Given the description of an element on the screen output the (x, y) to click on. 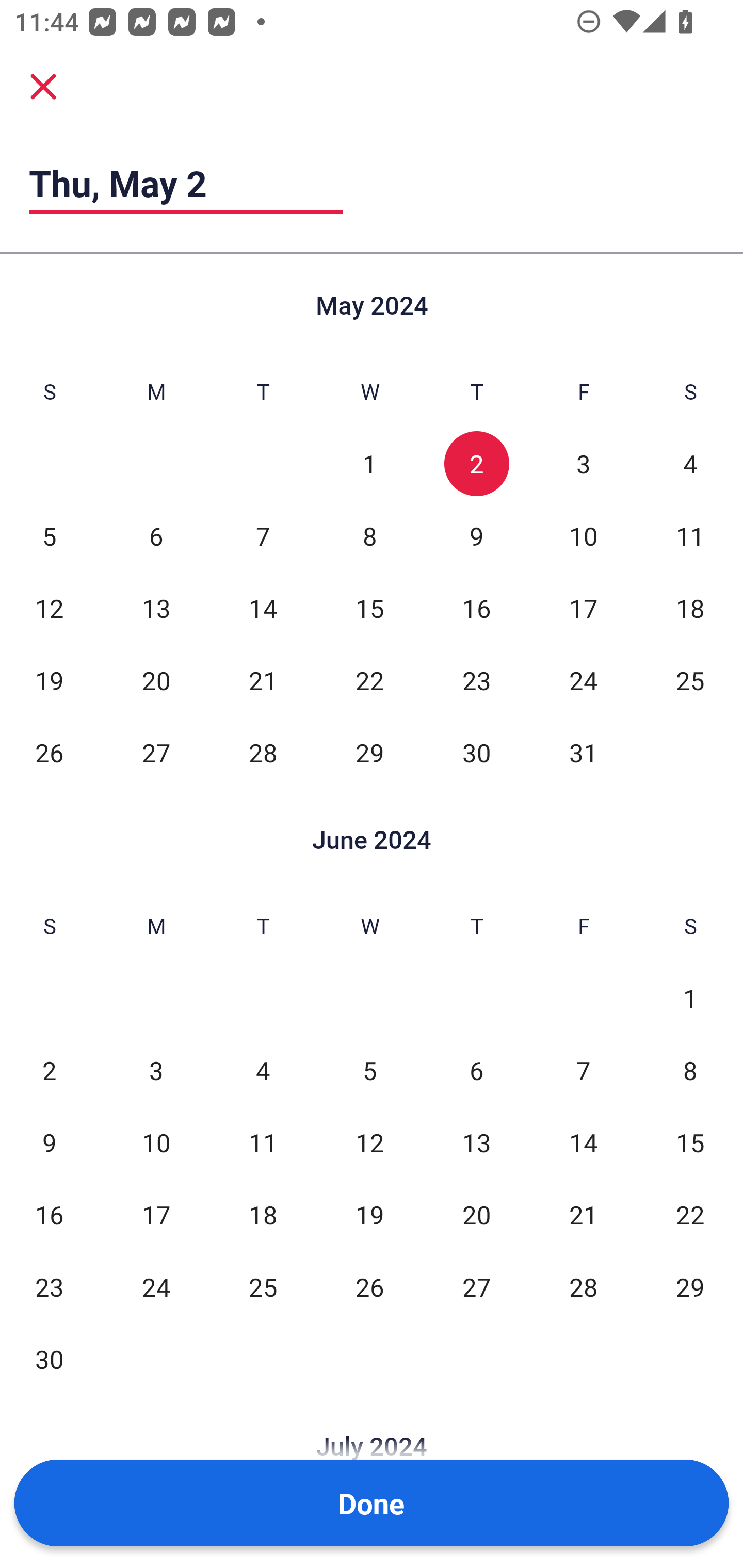
Cancel (43, 86)
Thu, May 2 (185, 182)
1 Wed, May 1, Not Selected (369, 464)
2 Thu, May 2, Selected (476, 464)
3 Fri, May 3, Not Selected (583, 464)
4 Sat, May 4, Not Selected (690, 464)
5 Sun, May 5, Not Selected (49, 536)
6 Mon, May 6, Not Selected (156, 536)
7 Tue, May 7, Not Selected (263, 536)
8 Wed, May 8, Not Selected (369, 536)
9 Thu, May 9, Not Selected (476, 536)
10 Fri, May 10, Not Selected (583, 536)
11 Sat, May 11, Not Selected (690, 536)
12 Sun, May 12, Not Selected (49, 608)
13 Mon, May 13, Not Selected (156, 608)
14 Tue, May 14, Not Selected (263, 608)
15 Wed, May 15, Not Selected (369, 608)
16 Thu, May 16, Not Selected (476, 608)
17 Fri, May 17, Not Selected (583, 608)
18 Sat, May 18, Not Selected (690, 608)
19 Sun, May 19, Not Selected (49, 680)
20 Mon, May 20, Not Selected (156, 680)
21 Tue, May 21, Not Selected (263, 680)
22 Wed, May 22, Not Selected (369, 680)
23 Thu, May 23, Not Selected (476, 680)
24 Fri, May 24, Not Selected (583, 680)
25 Sat, May 25, Not Selected (690, 680)
26 Sun, May 26, Not Selected (49, 752)
27 Mon, May 27, Not Selected (156, 752)
28 Tue, May 28, Not Selected (263, 752)
29 Wed, May 29, Not Selected (369, 752)
30 Thu, May 30, Not Selected (476, 752)
31 Fri, May 31, Not Selected (583, 752)
1 Sat, Jun 1, Not Selected (690, 997)
2 Sun, Jun 2, Not Selected (49, 1070)
3 Mon, Jun 3, Not Selected (156, 1070)
4 Tue, Jun 4, Not Selected (263, 1070)
5 Wed, Jun 5, Not Selected (369, 1070)
6 Thu, Jun 6, Not Selected (476, 1070)
7 Fri, Jun 7, Not Selected (583, 1070)
8 Sat, Jun 8, Not Selected (690, 1070)
9 Sun, Jun 9, Not Selected (49, 1143)
10 Mon, Jun 10, Not Selected (156, 1143)
11 Tue, Jun 11, Not Selected (263, 1143)
12 Wed, Jun 12, Not Selected (369, 1143)
13 Thu, Jun 13, Not Selected (476, 1143)
14 Fri, Jun 14, Not Selected (583, 1143)
15 Sat, Jun 15, Not Selected (690, 1143)
16 Sun, Jun 16, Not Selected (49, 1215)
17 Mon, Jun 17, Not Selected (156, 1215)
